Given the description of an element on the screen output the (x, y) to click on. 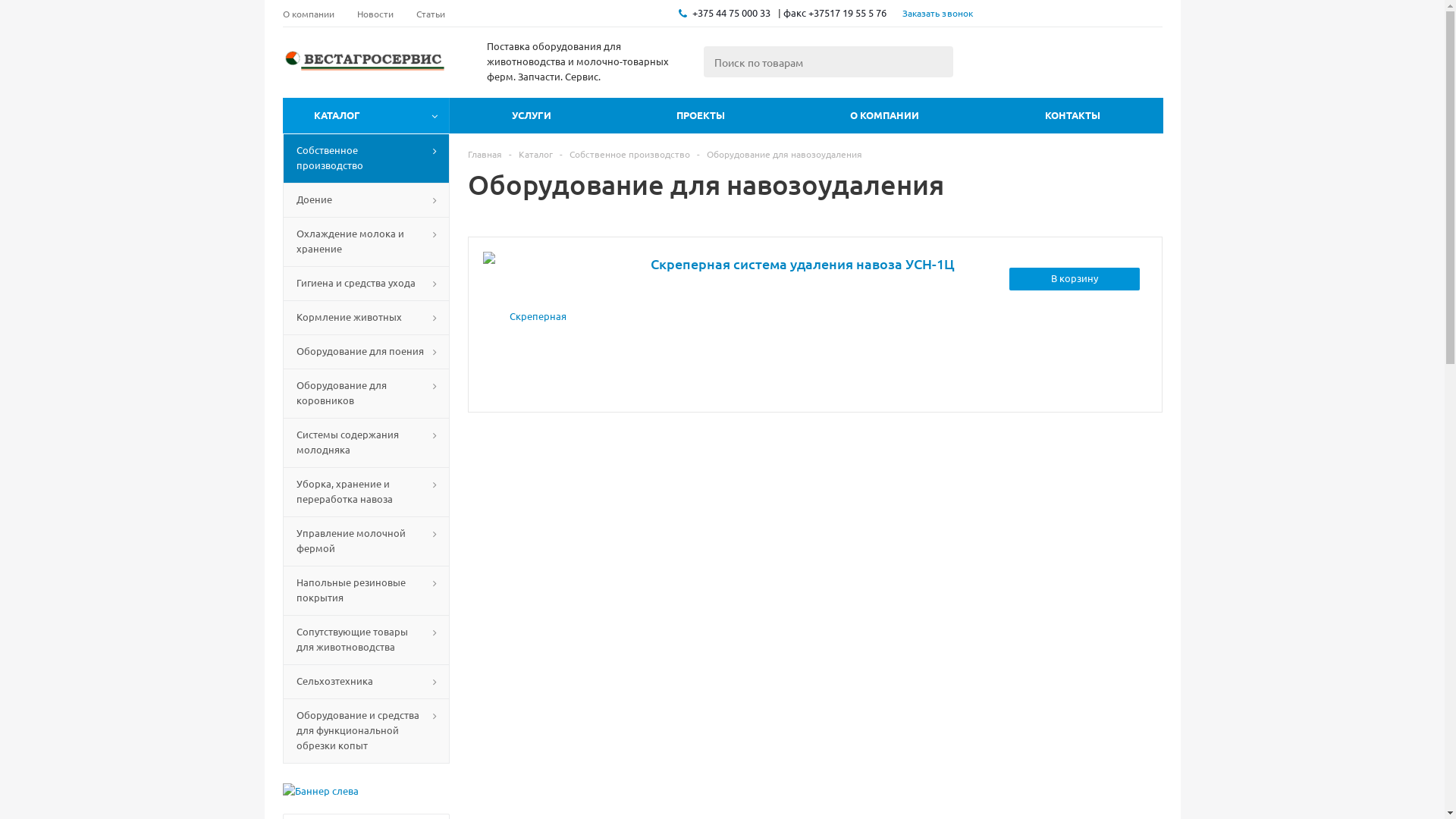
+375 44 75 000 33 Element type: text (730, 12)
